Given the description of an element on the screen output the (x, y) to click on. 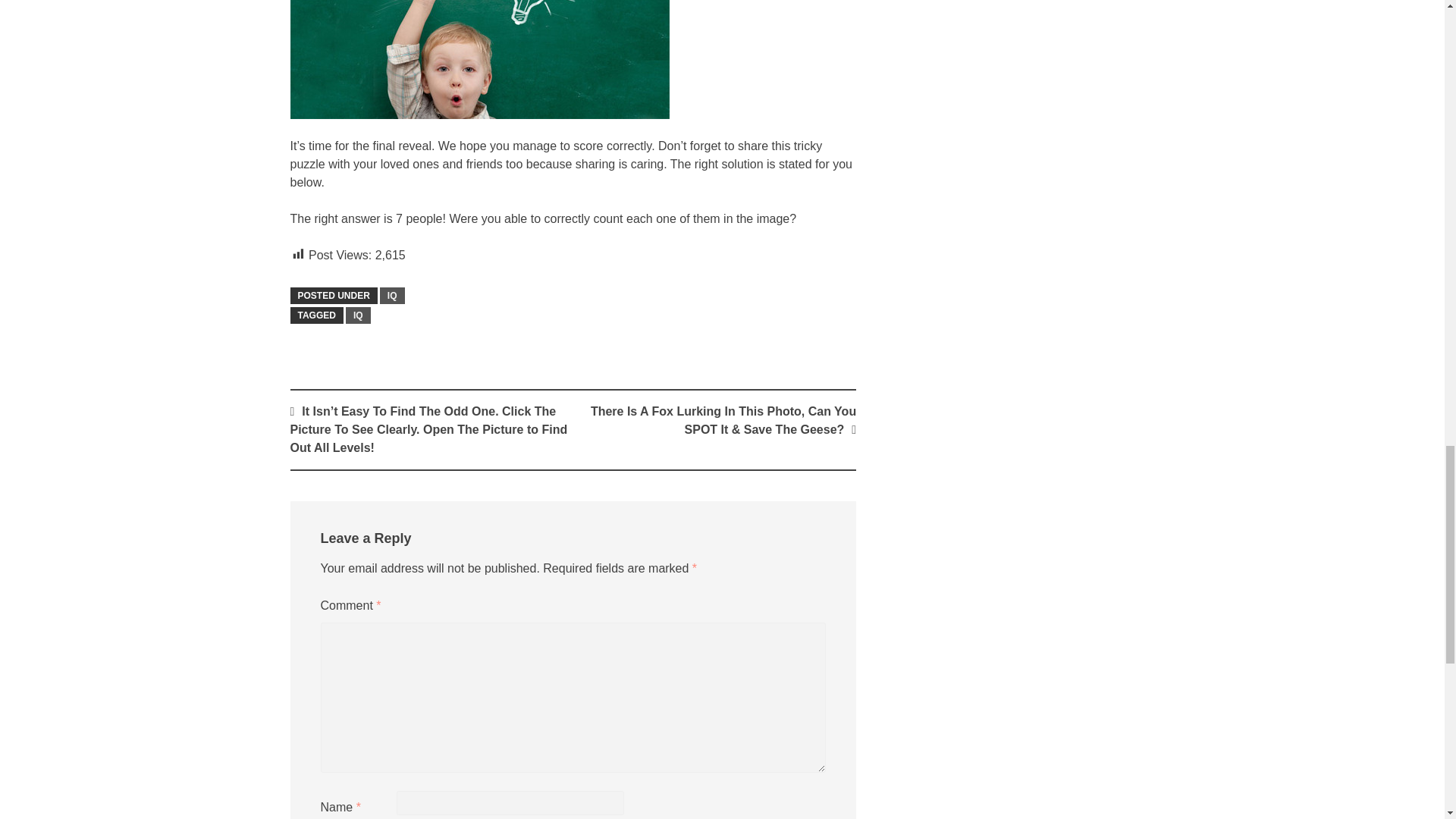
IQ (358, 315)
IQ (392, 295)
